Given the description of an element on the screen output the (x, y) to click on. 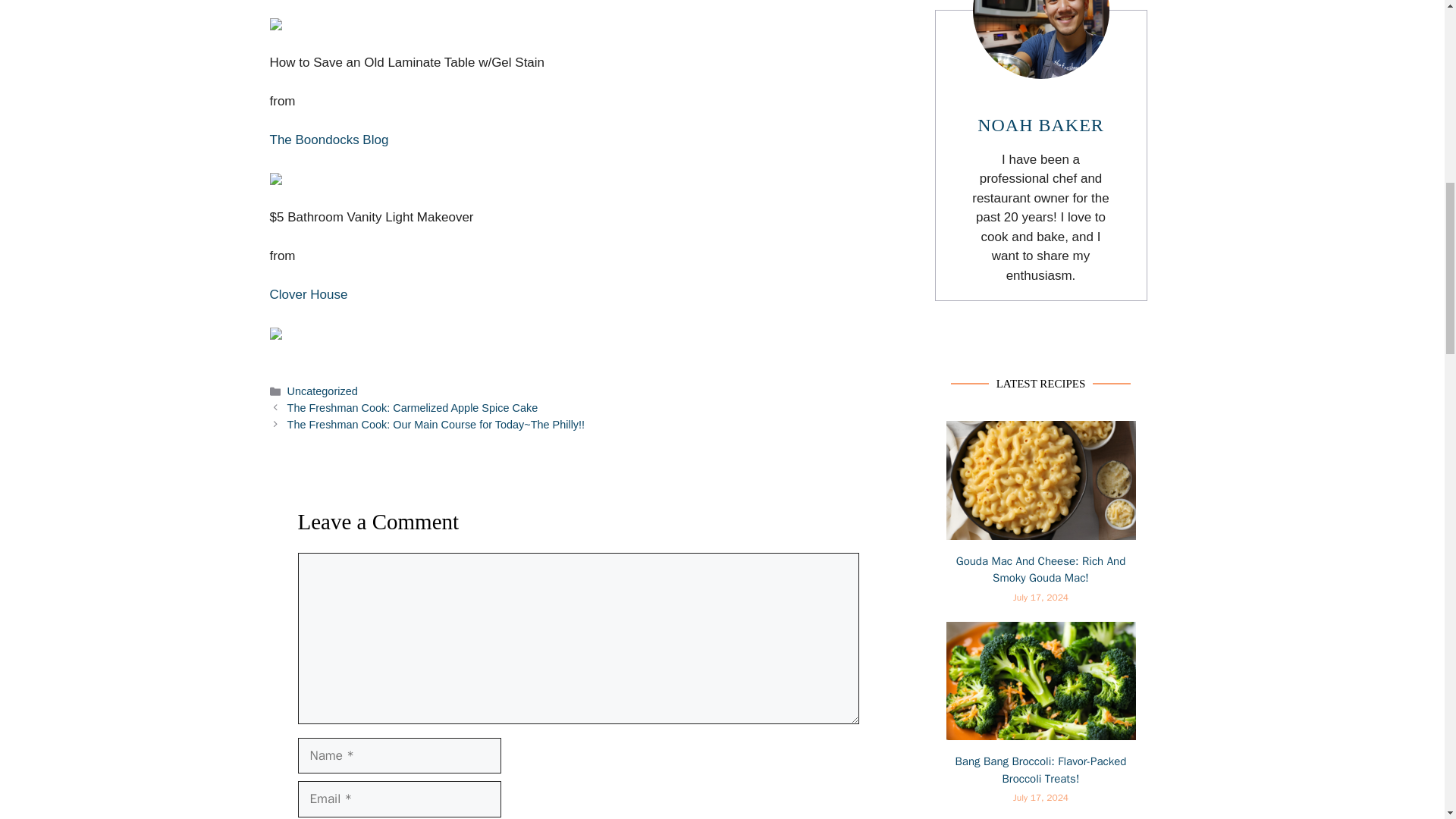
Clover House (308, 294)
The Boondocks Blog (328, 139)
Uncategorized (322, 390)
The Freshman Cook: Carmelized Apple Spice Cake (412, 408)
